Given the description of an element on the screen output the (x, y) to click on. 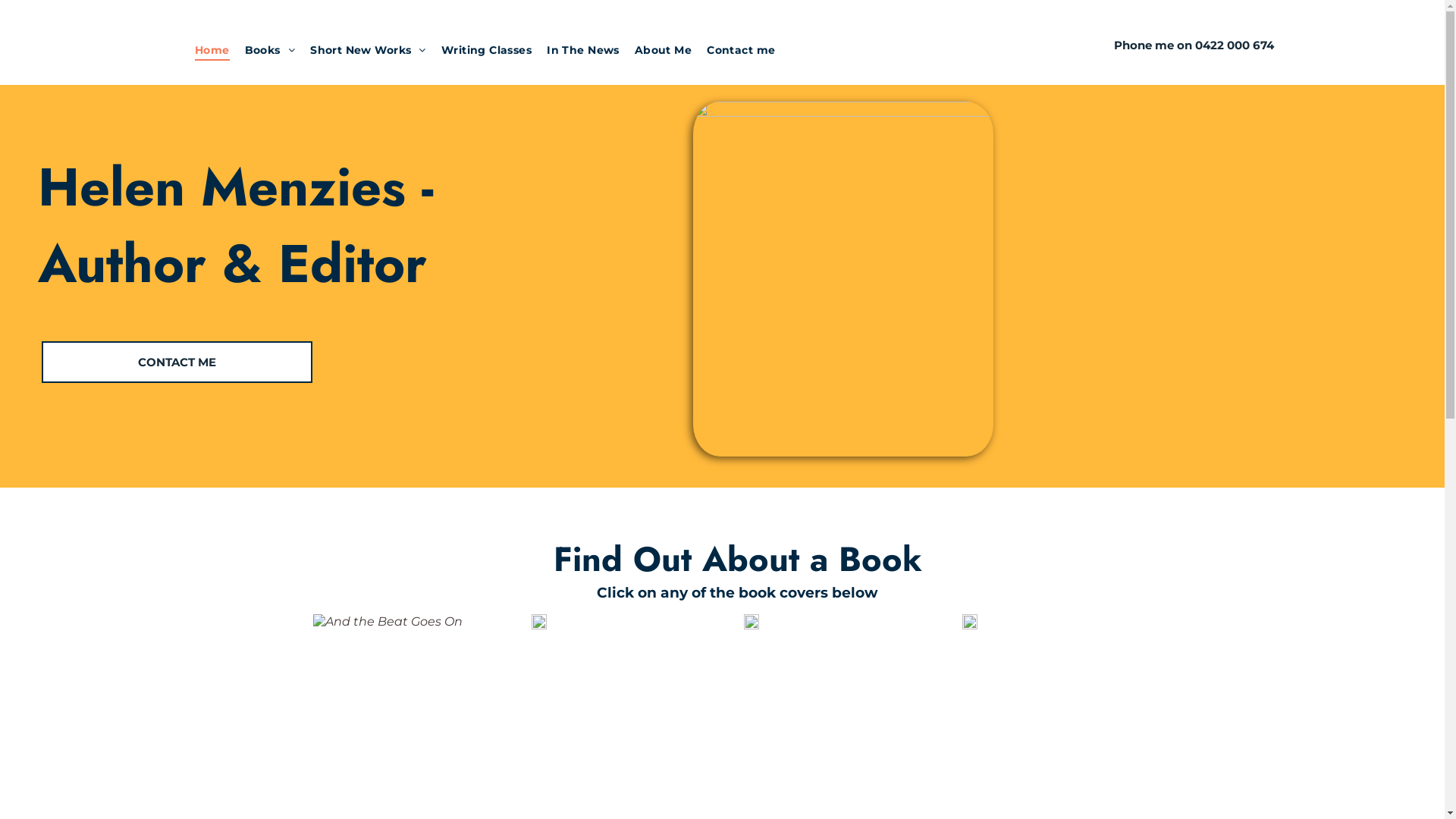
Books Element type: text (270, 49)
In The News Element type: text (583, 49)
About Me Element type: text (663, 49)
Short New Works Element type: text (367, 49)
Writing Classes Element type: text (486, 49)
CONTACT ME Element type: text (176, 361)
Home Element type: text (212, 49)
Phone me on 0422 000 674 Element type: text (1193, 45)
Contact me Element type: text (740, 49)
